Given the description of an element on the screen output the (x, y) to click on. 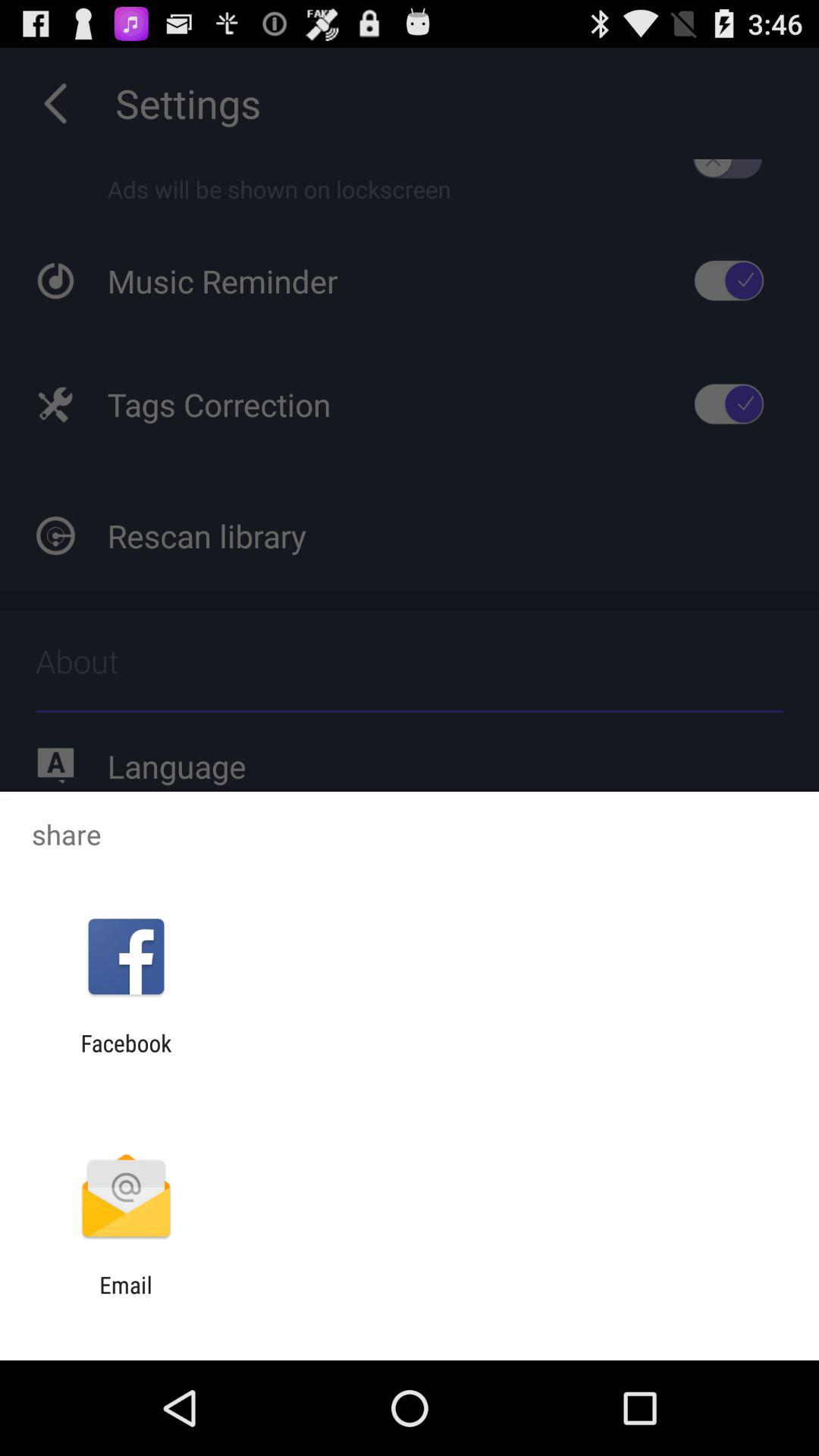
select email icon (125, 1298)
